Given the description of an element on the screen output the (x, y) to click on. 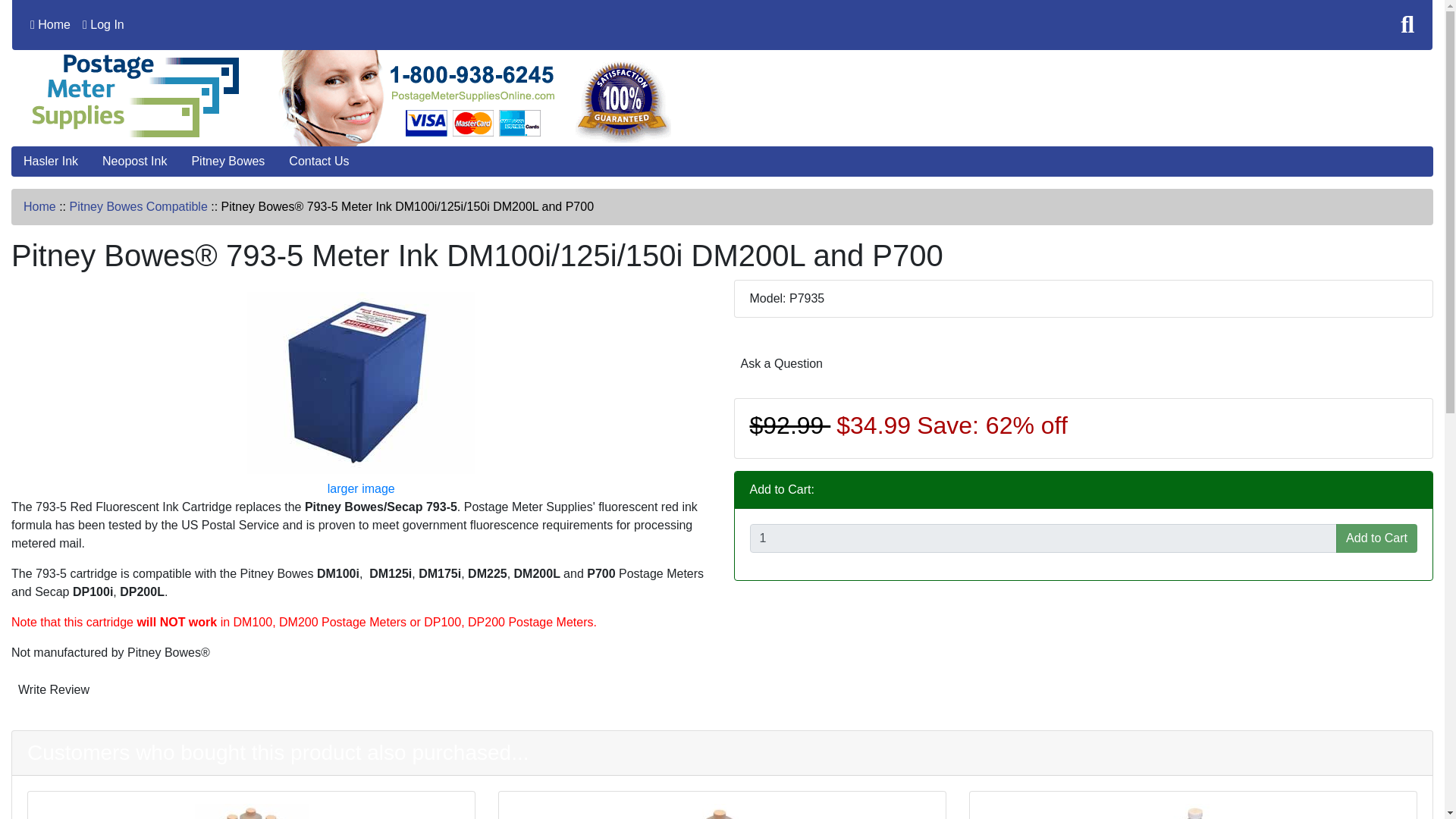
Log In (104, 24)
EZ016-4 Sealing Solution 16 oz Pint Bottle, Box of 4 (250, 811)
Home (50, 24)
Contact Us (318, 161)
larger image (361, 435)
Write Review (53, 689)
Postage Meter Supplies Home (348, 97)
Pitney Bowes Compatible (137, 205)
EZ064 Sealing Solution Half Gallon Bottle (1192, 811)
Ask a Question (781, 364)
Hasler Ink (50, 161)
1 (1042, 538)
EZ016 Sealing Solution 16 oz Pint Bottle, Qty 1 (721, 811)
Neopost Ink (134, 161)
Pitney Bowes (227, 161)
